Given the description of an element on the screen output the (x, y) to click on. 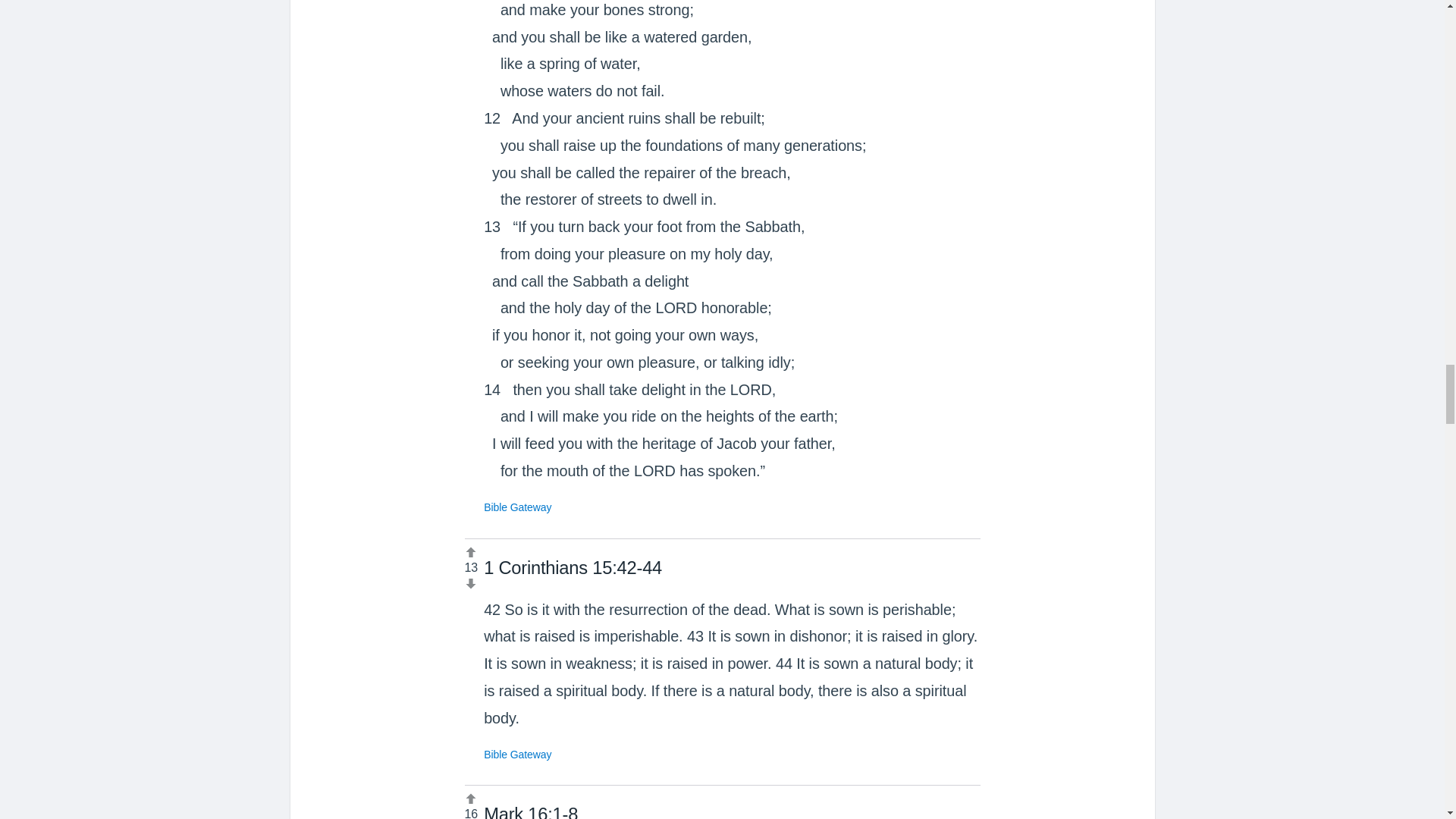
Bible Gateway (517, 754)
Bible Gateway (517, 507)
